Given the description of an element on the screen output the (x, y) to click on. 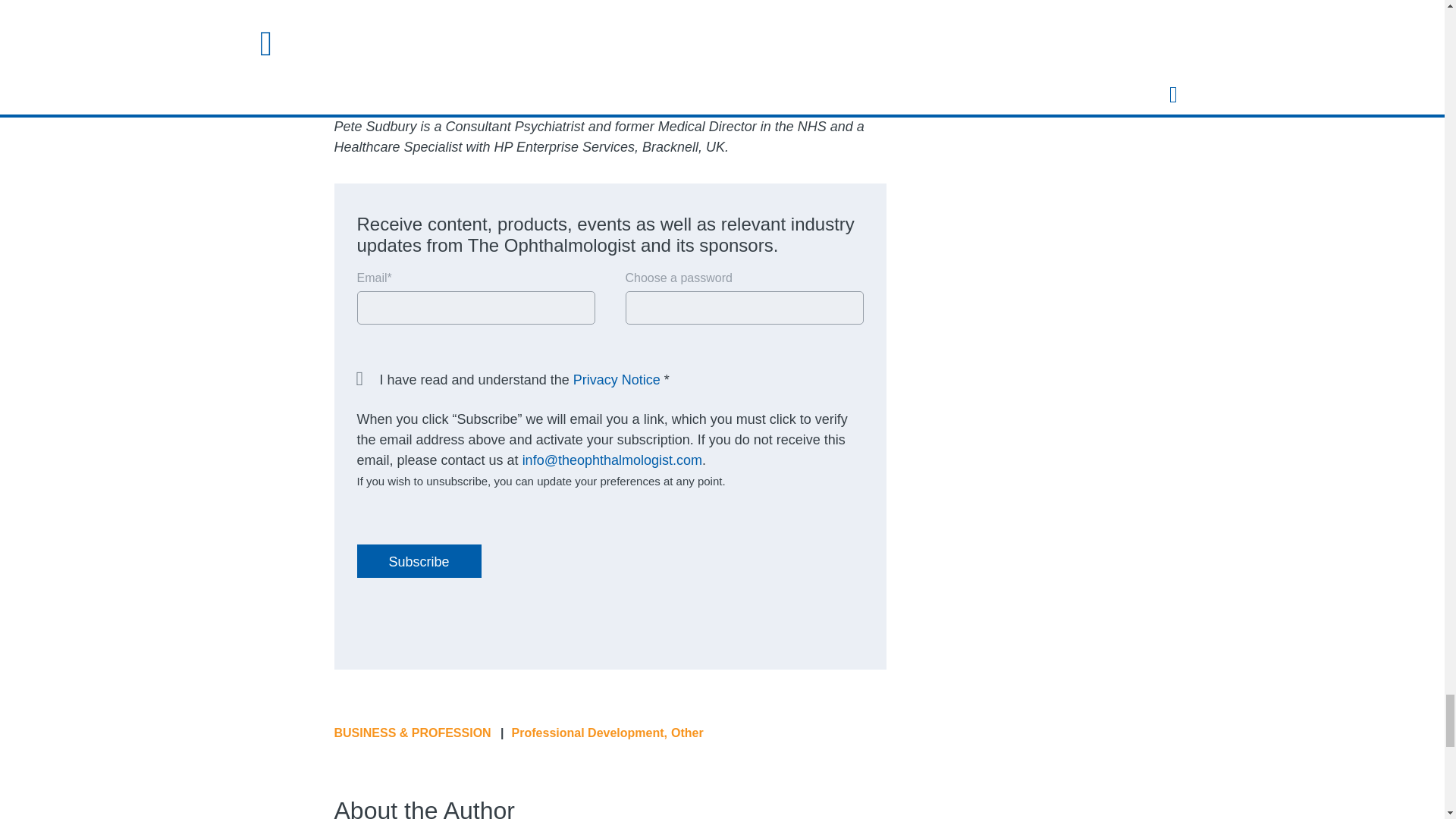
Professional Development, (589, 733)
Privacy Notice (617, 379)
Subscribe (418, 561)
Other (687, 733)
Subscribe (418, 561)
